Given the description of an element on the screen output the (x, y) to click on. 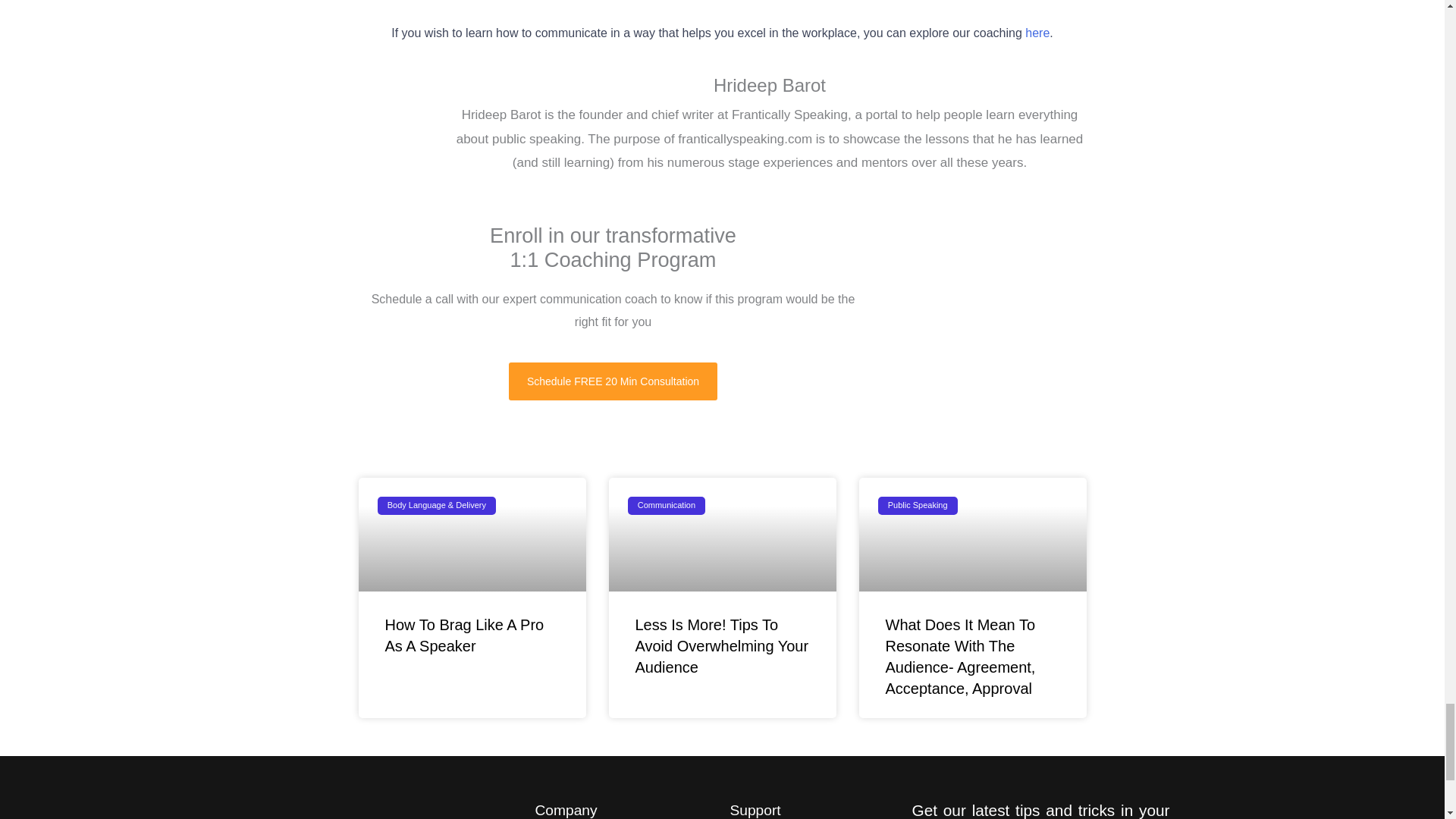
here (1035, 32)
How To Brag Like A Pro As A Speaker (464, 635)
Schedule FREE 20 Min Consultation (612, 381)
